Given the description of an element on the screen output the (x, y) to click on. 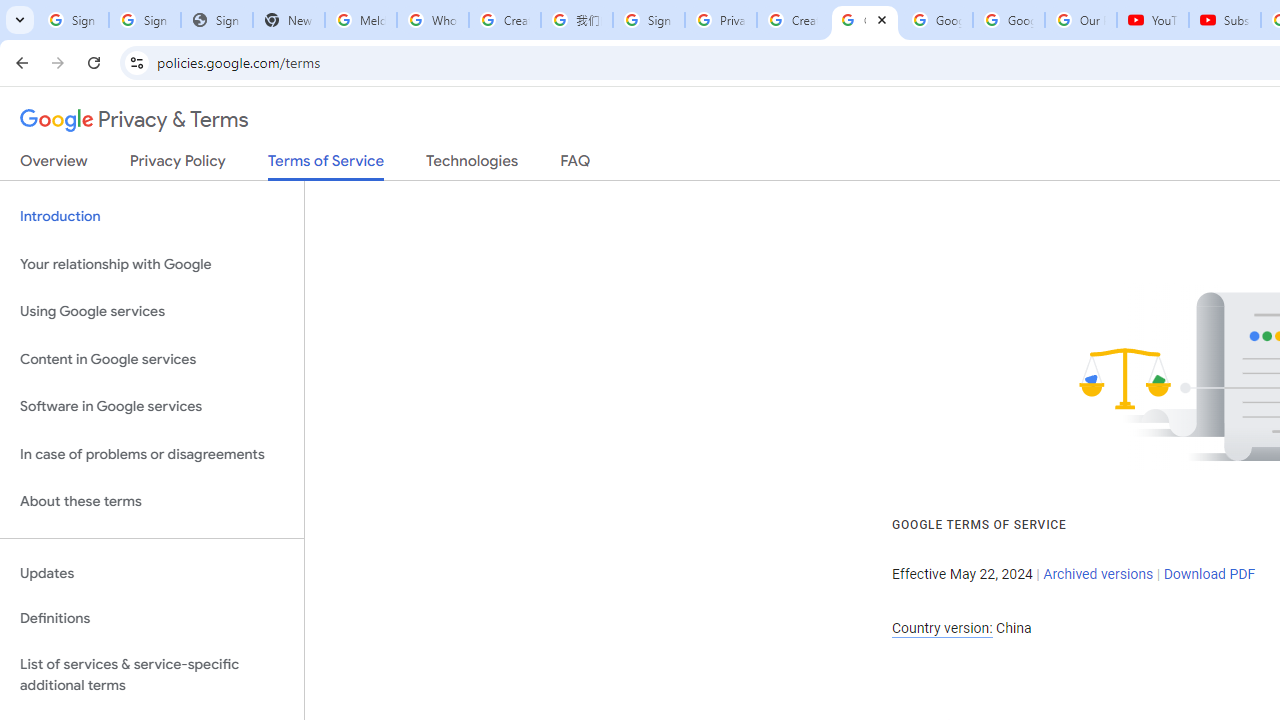
Introduction (152, 216)
Country version: (942, 628)
Archived versions (1098, 574)
Sign In - USA TODAY (216, 20)
Overview (54, 165)
Google Account (1008, 20)
Sign in - Google Accounts (648, 20)
Subscriptions - YouTube (1224, 20)
Software in Google services (152, 407)
Create your Google Account (504, 20)
